Given the description of an element on the screen output the (x, y) to click on. 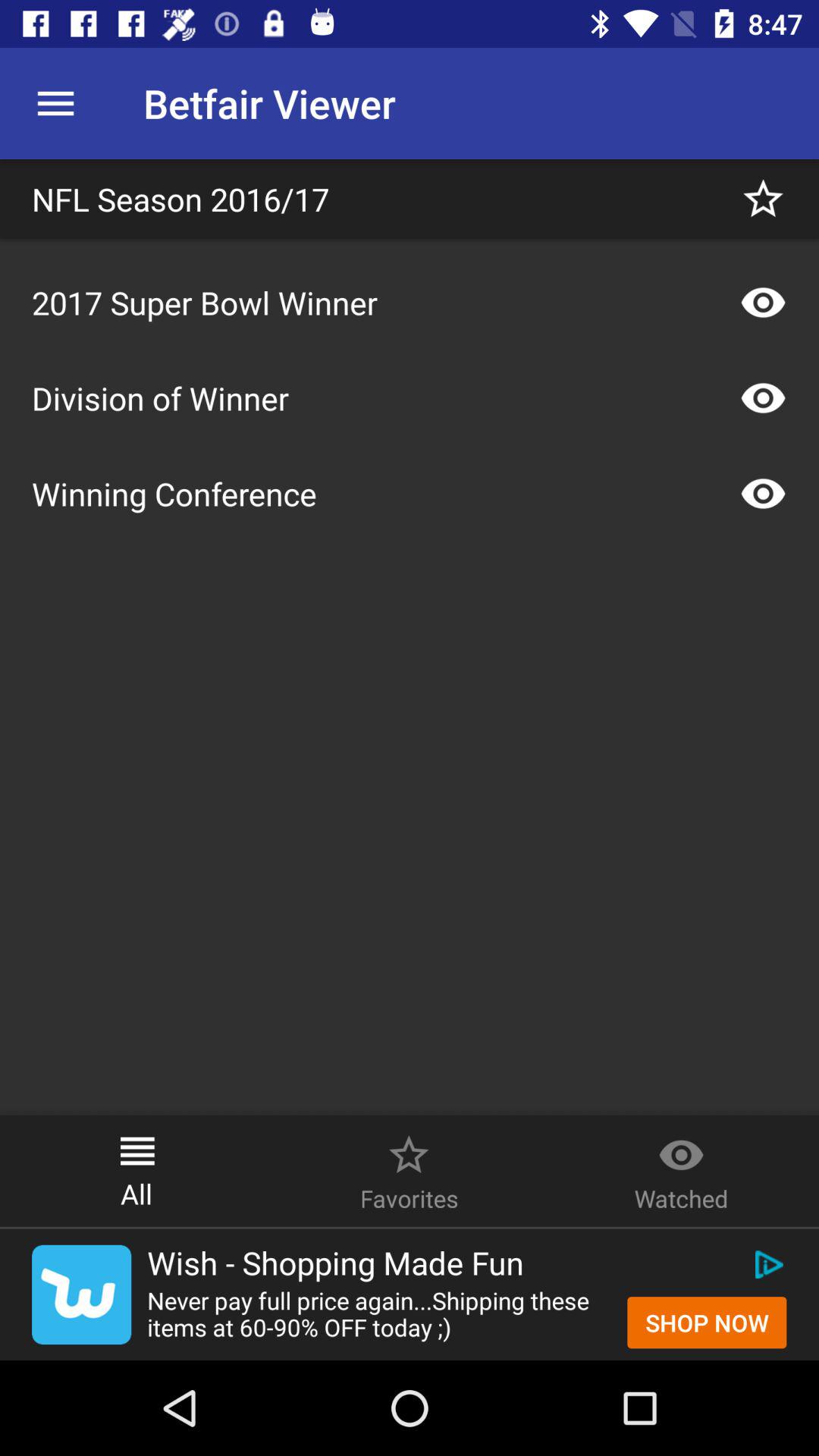
add to favorites option (763, 198)
